Given the description of an element on the screen output the (x, y) to click on. 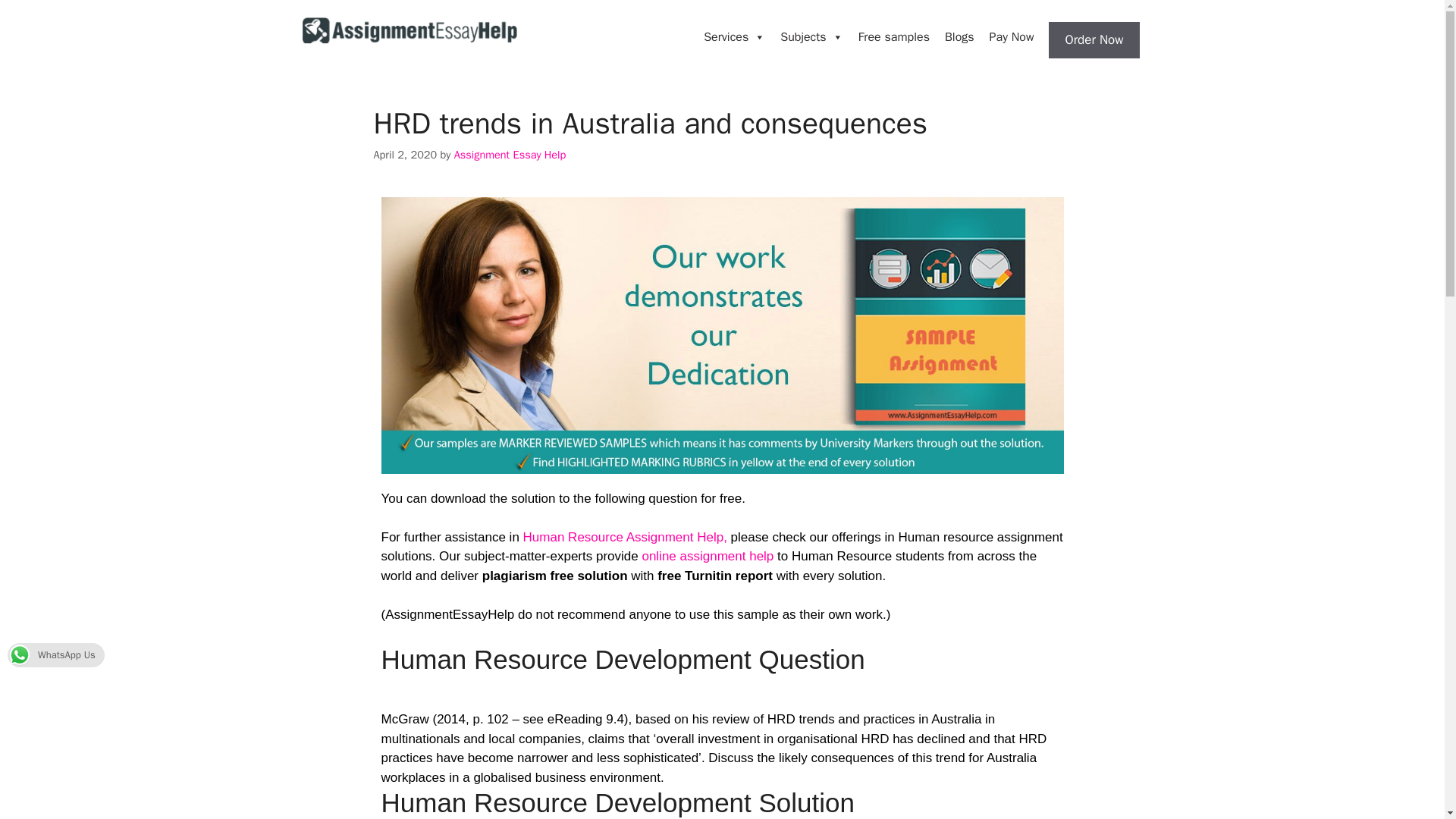
Free samples (893, 37)
Subjects (811, 37)
Services (734, 37)
View all posts by Assignment Essay Help (510, 154)
Blogs (959, 37)
Pay Now (1011, 37)
